Given the description of an element on the screen output the (x, y) to click on. 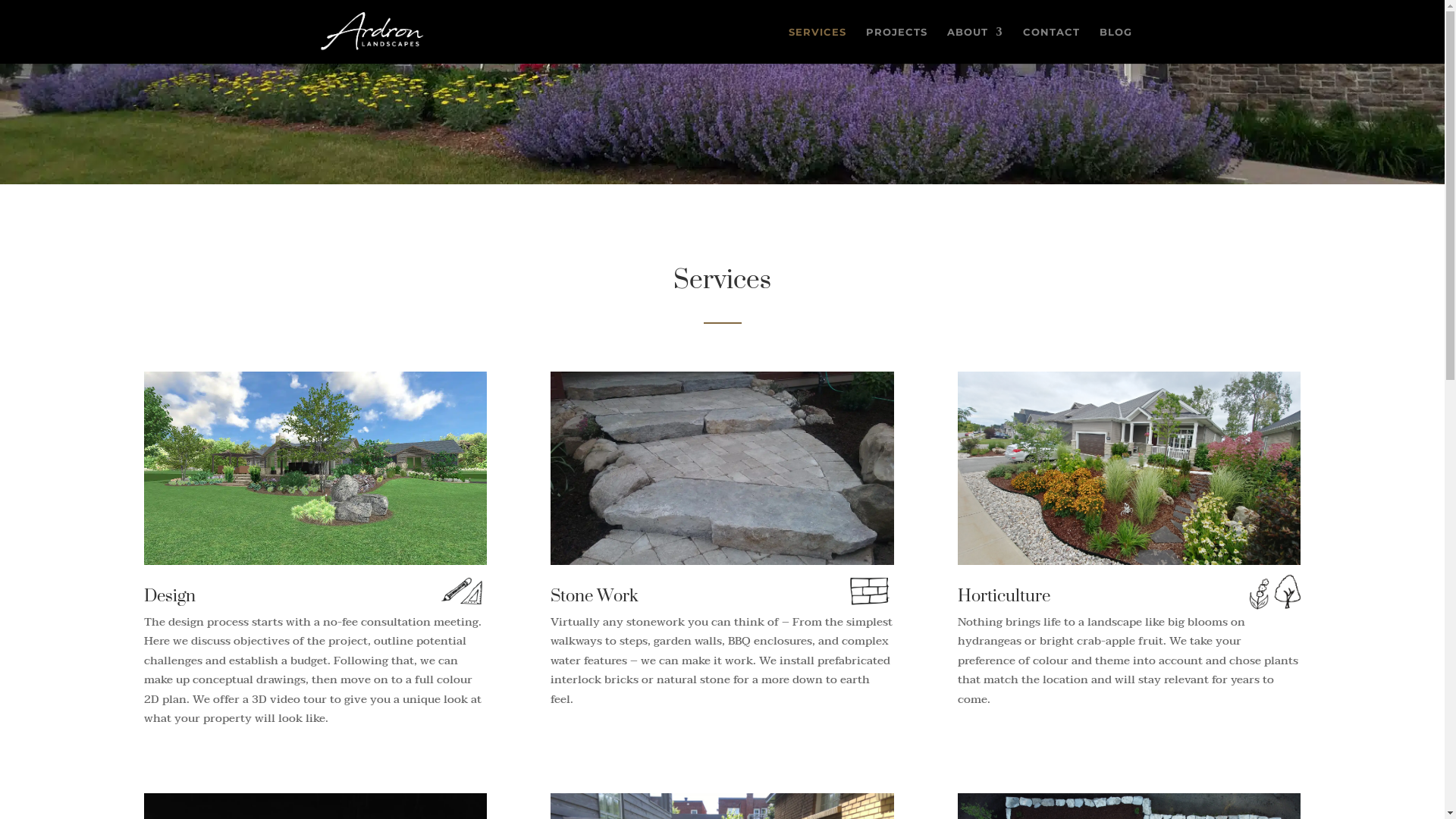
PROJECTS Element type: text (896, 44)
BLOG Element type: text (1115, 44)
CONTACT Element type: text (1050, 44)
SERVICES Element type: text (817, 44)
ABOUT Element type: text (974, 44)
